Given the description of an element on the screen output the (x, y) to click on. 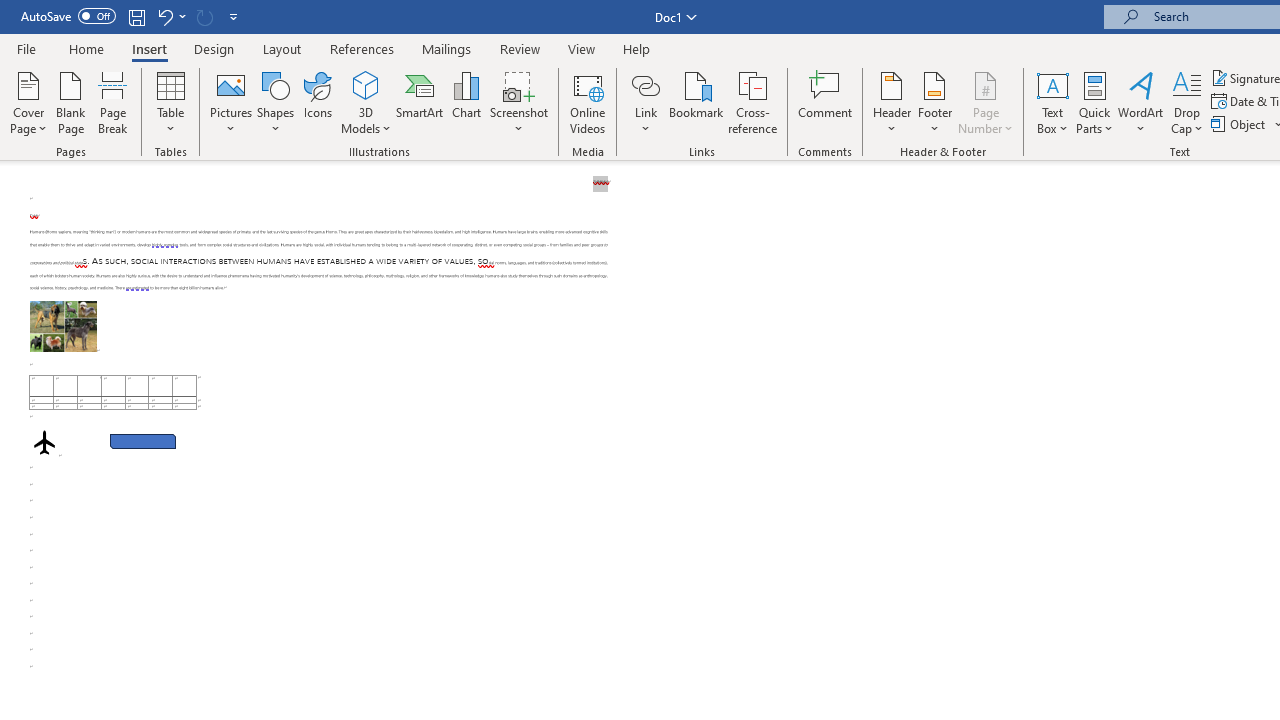
Comment (825, 102)
Blank Page (70, 102)
Review (520, 48)
3D Models (366, 84)
References (362, 48)
Customize Quick Access Toolbar (234, 15)
Page Break (113, 102)
WordArt (1141, 102)
Airplane with solid fill (43, 442)
AutoSave (68, 16)
3D Models (366, 102)
SmartArt... (419, 102)
